Given the description of an element on the screen output the (x, y) to click on. 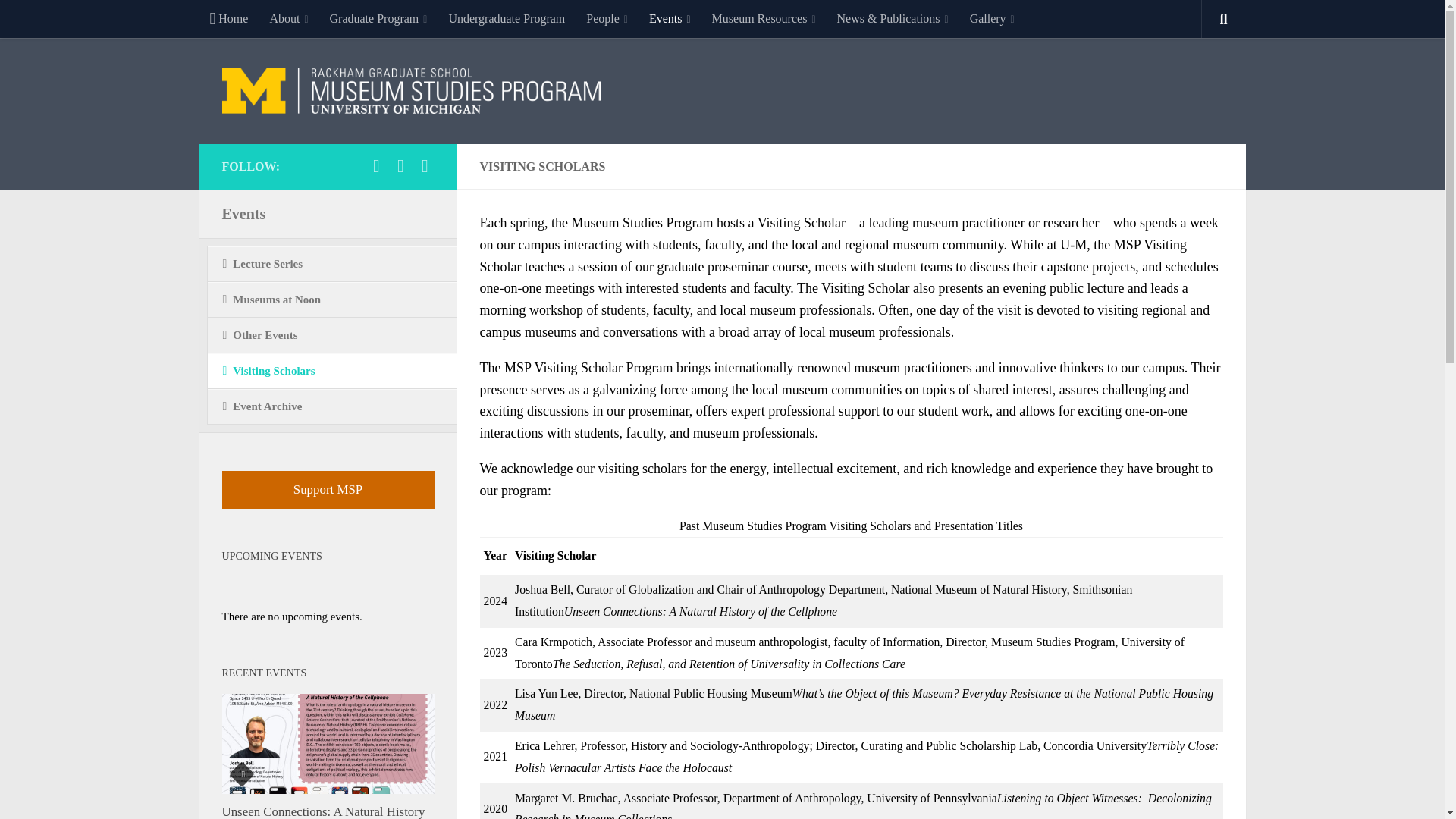
Twitter (400, 166)
Skip to content (59, 20)
YouTube (423, 166)
Facebook (375, 166)
